Given the description of an element on the screen output the (x, y) to click on. 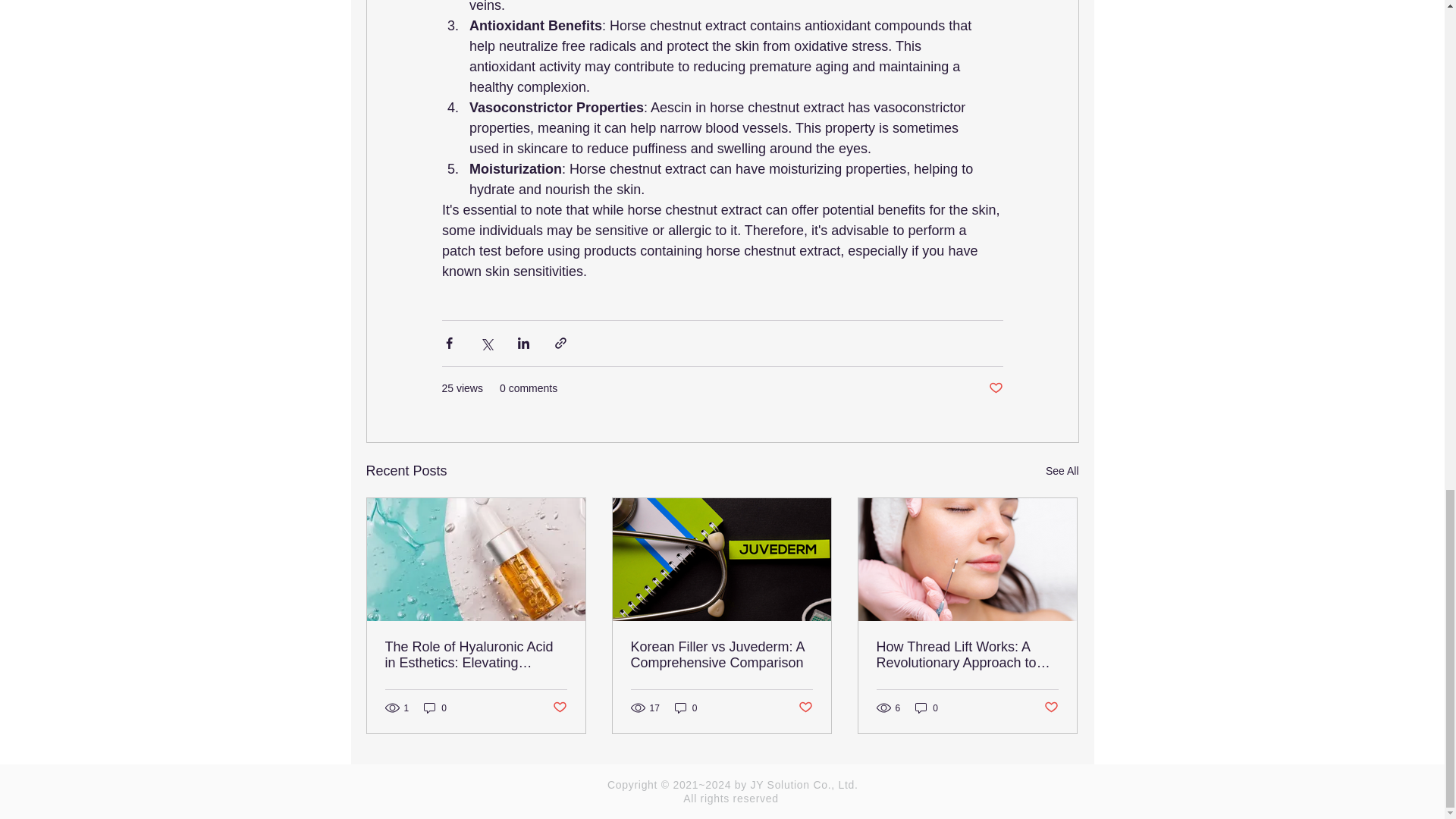
0 (435, 707)
See All (1061, 471)
0 (685, 707)
Post not marked as liked (558, 707)
Korean Filler vs Juvederm: A Comprehensive Comparison (721, 654)
Post not marked as liked (995, 388)
